Given the description of an element on the screen output the (x, y) to click on. 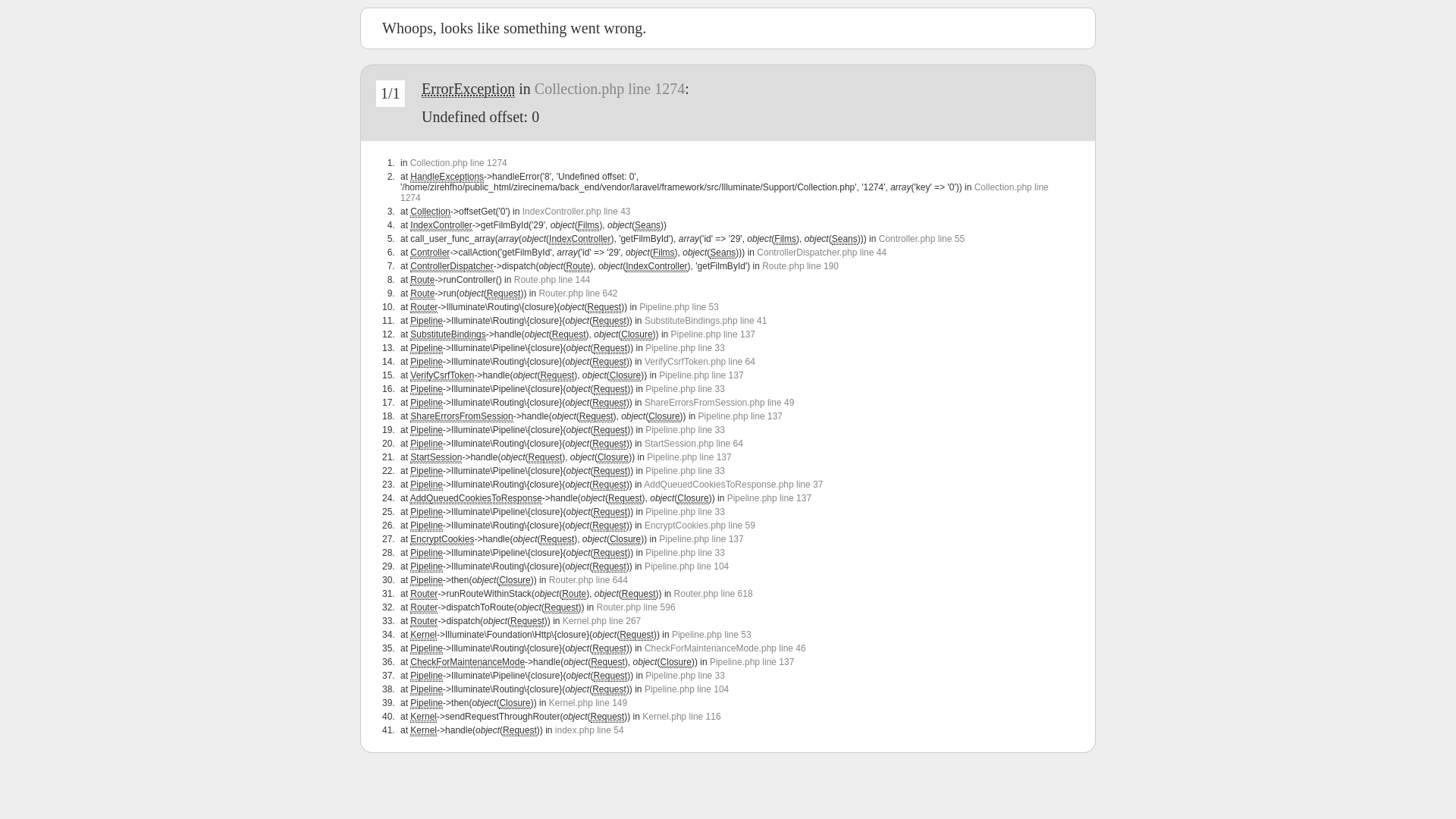
VerifyCsrfToken.php line 64 Element type: text (699, 361)
Kernel.php line 116 Element type: text (681, 716)
Pipeline.php line 33 Element type: text (684, 388)
Router.php line 596 Element type: text (635, 607)
Pipeline.php line 137 Element type: text (751, 661)
Pipeline.php line 104 Element type: text (686, 566)
Router.php line 642 Element type: text (577, 293)
Pipeline.php line 137 Element type: text (713, 334)
StartSession.php line 64 Element type: text (693, 443)
Router.php line 618 Element type: text (713, 593)
Route.php line 190 Element type: text (800, 265)
SubstituteBindings.php line 41 Element type: text (705, 320)
ShareErrorsFromSession.php line 49 Element type: text (718, 402)
Collection.php line 1274 Element type: text (609, 88)
Collection.php line 1274 Element type: text (724, 192)
Kernel.php line 149 Element type: text (588, 702)
Kernel.php line 267 Element type: text (601, 620)
Pipeline.php line 137 Element type: text (700, 375)
Collection.php line 1274 Element type: text (458, 162)
Pipeline.php line 53 Element type: text (678, 306)
Router.php line 644 Element type: text (588, 579)
Pipeline.php line 137 Element type: text (700, 538)
Controller.php line 55 Element type: text (921, 238)
Pipeline.php line 33 Element type: text (684, 470)
Pipeline.php line 137 Element type: text (769, 497)
Pipeline.php line 33 Element type: text (684, 347)
Pipeline.php line 33 Element type: text (684, 675)
CheckForMaintenanceMode.php line 46 Element type: text (725, 648)
Pipeline.php line 104 Element type: text (686, 689)
IndexController.php line 43 Element type: text (576, 211)
Pipeline.php line 137 Element type: text (688, 456)
AddQueuedCookiesToResponse.php line 37 Element type: text (732, 484)
Pipeline.php line 53 Element type: text (711, 634)
index.php line 54 Element type: text (589, 729)
Pipeline.php line 33 Element type: text (684, 429)
Pipeline.php line 33 Element type: text (684, 552)
Route.php line 144 Element type: text (552, 279)
Pipeline.php line 137 Element type: text (740, 416)
ControllerDispatcher.php line 44 Element type: text (821, 252)
Pipeline.php line 33 Element type: text (684, 511)
EncryptCookies.php line 59 Element type: text (699, 525)
